Given the description of an element on the screen output the (x, y) to click on. 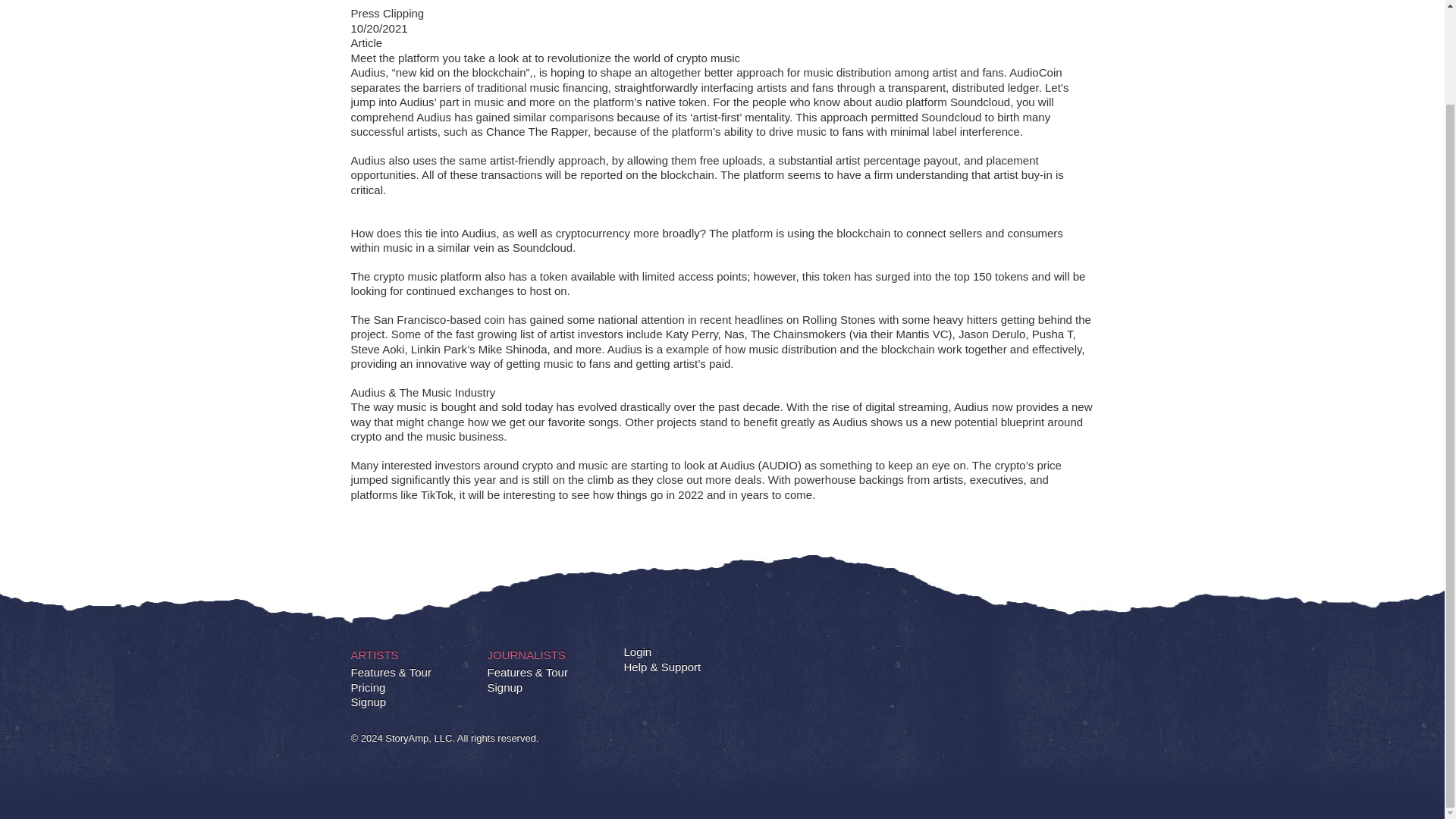
Pricing (367, 687)
Signup (504, 687)
Login (636, 652)
JOURNALISTS (525, 654)
Signup (367, 702)
ARTISTS (373, 654)
